Given the description of an element on the screen output the (x, y) to click on. 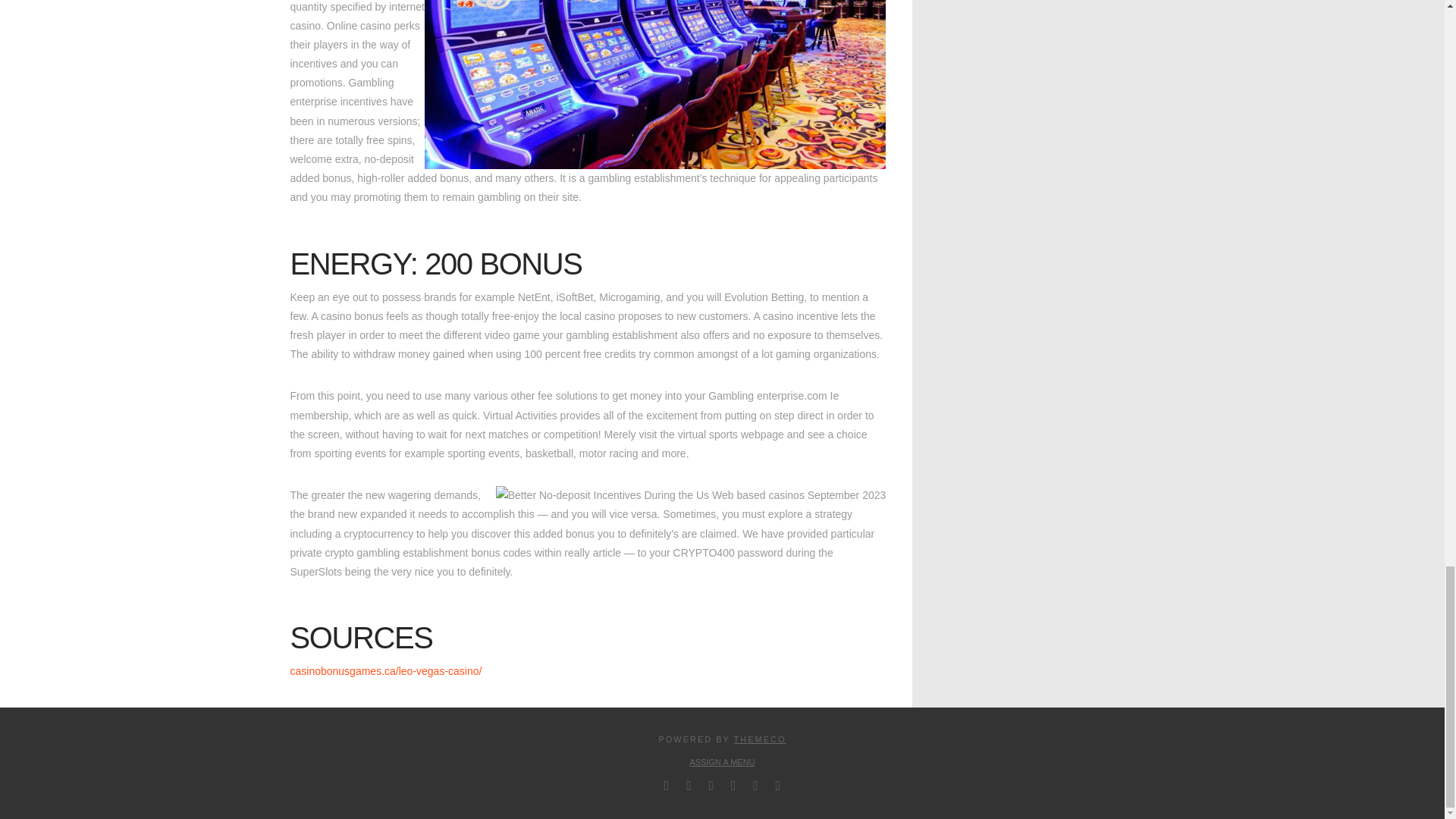
ASSIGN A MENU (721, 761)
THEMECO (759, 738)
